Given the description of an element on the screen output the (x, y) to click on. 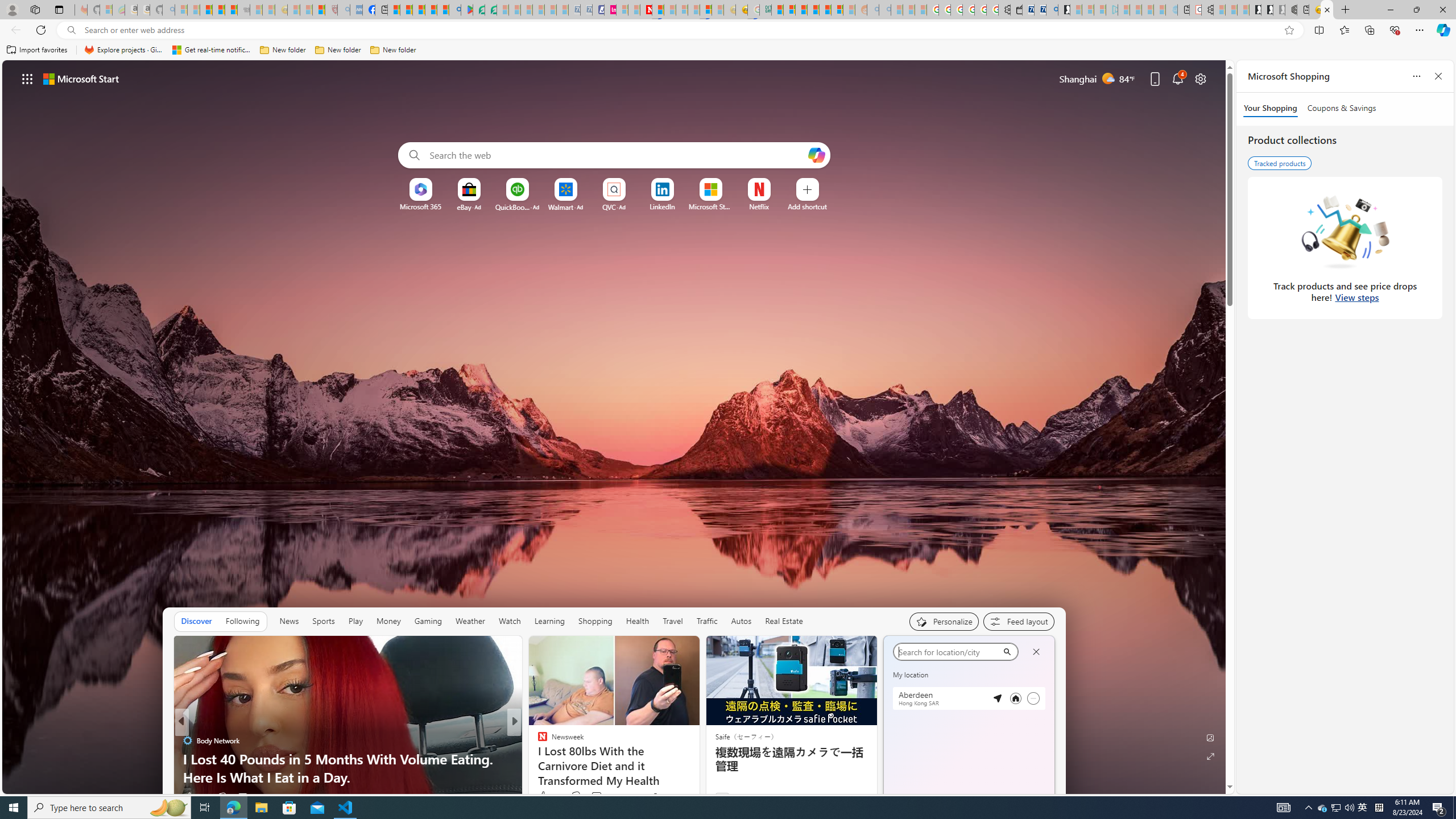
Set as your primary location (1015, 698)
6 Like (541, 796)
My location (934, 649)
Health (637, 621)
View comments 13 Comment (592, 797)
